Given the description of an element on the screen output the (x, y) to click on. 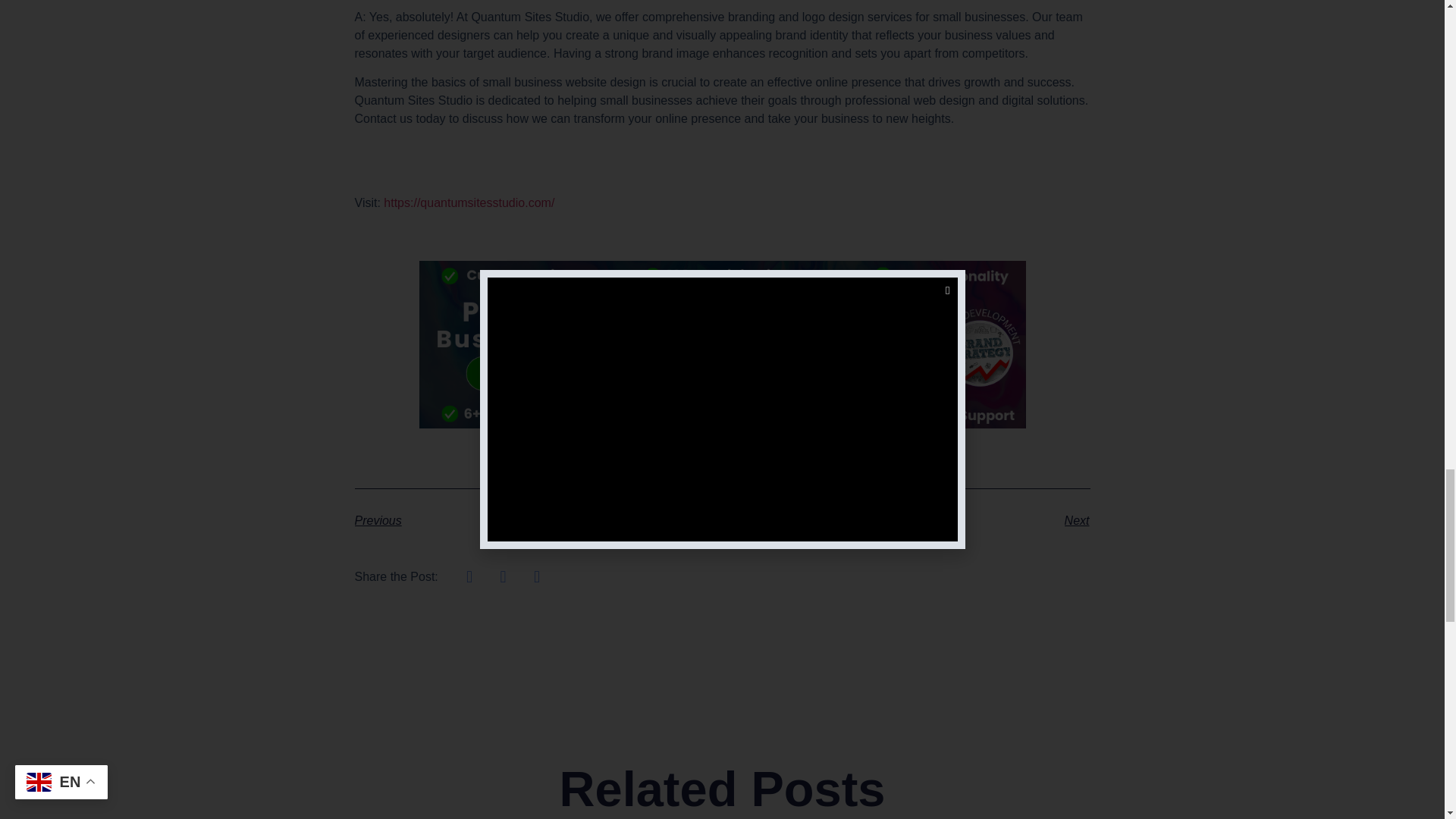
Next (905, 520)
Previous (538, 520)
